Given the description of an element on the screen output the (x, y) to click on. 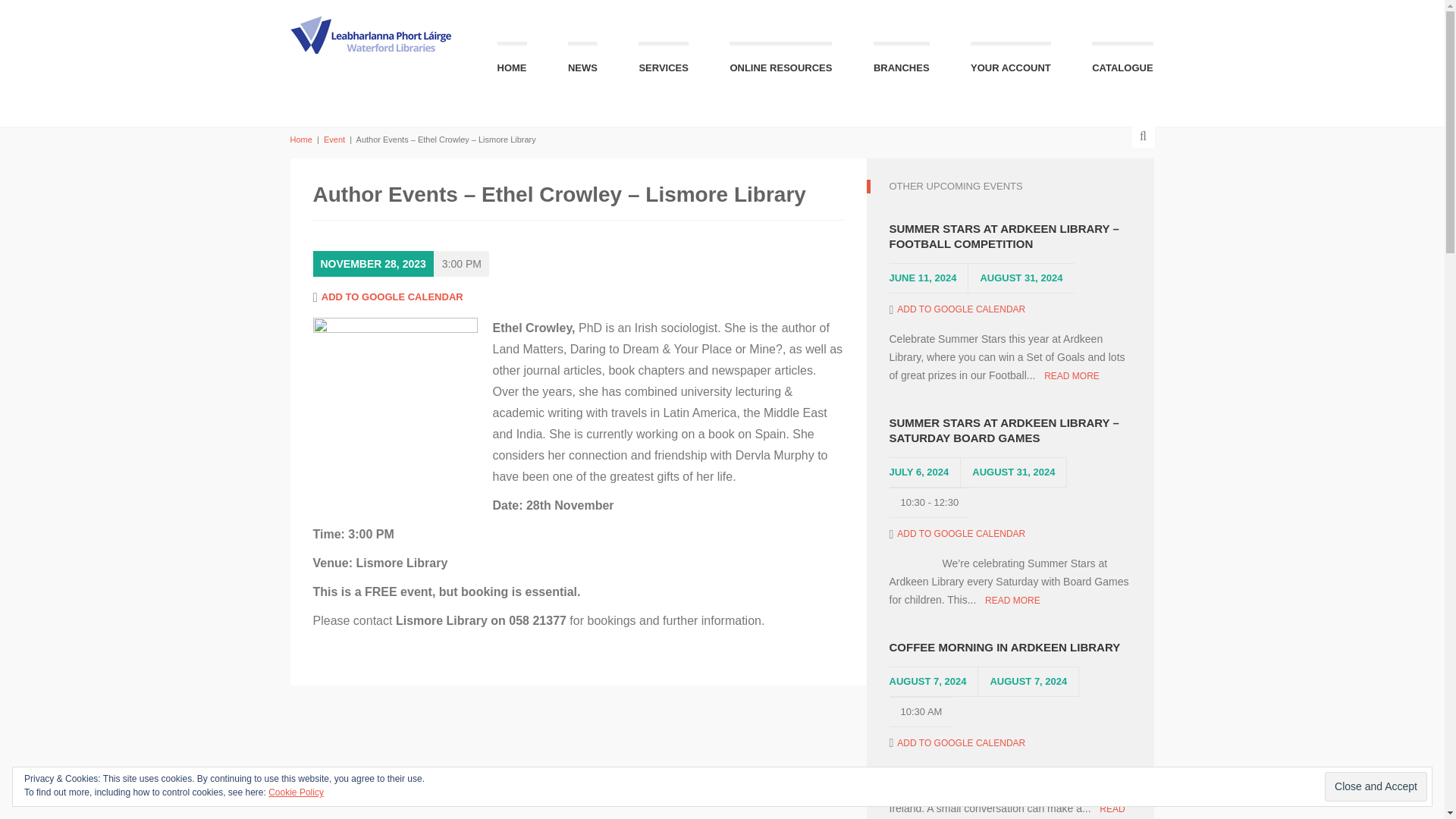
SERVICES (663, 62)
Close and Accept (1375, 786)
ONLINE RESOURCES (780, 62)
Permalink to: Coffee Morning in Ardkeen Library (1009, 647)
YOUR ACCOUNT (1011, 62)
CATALOGUE (1122, 62)
BRANCHES (901, 62)
